Given the description of an element on the screen output the (x, y) to click on. 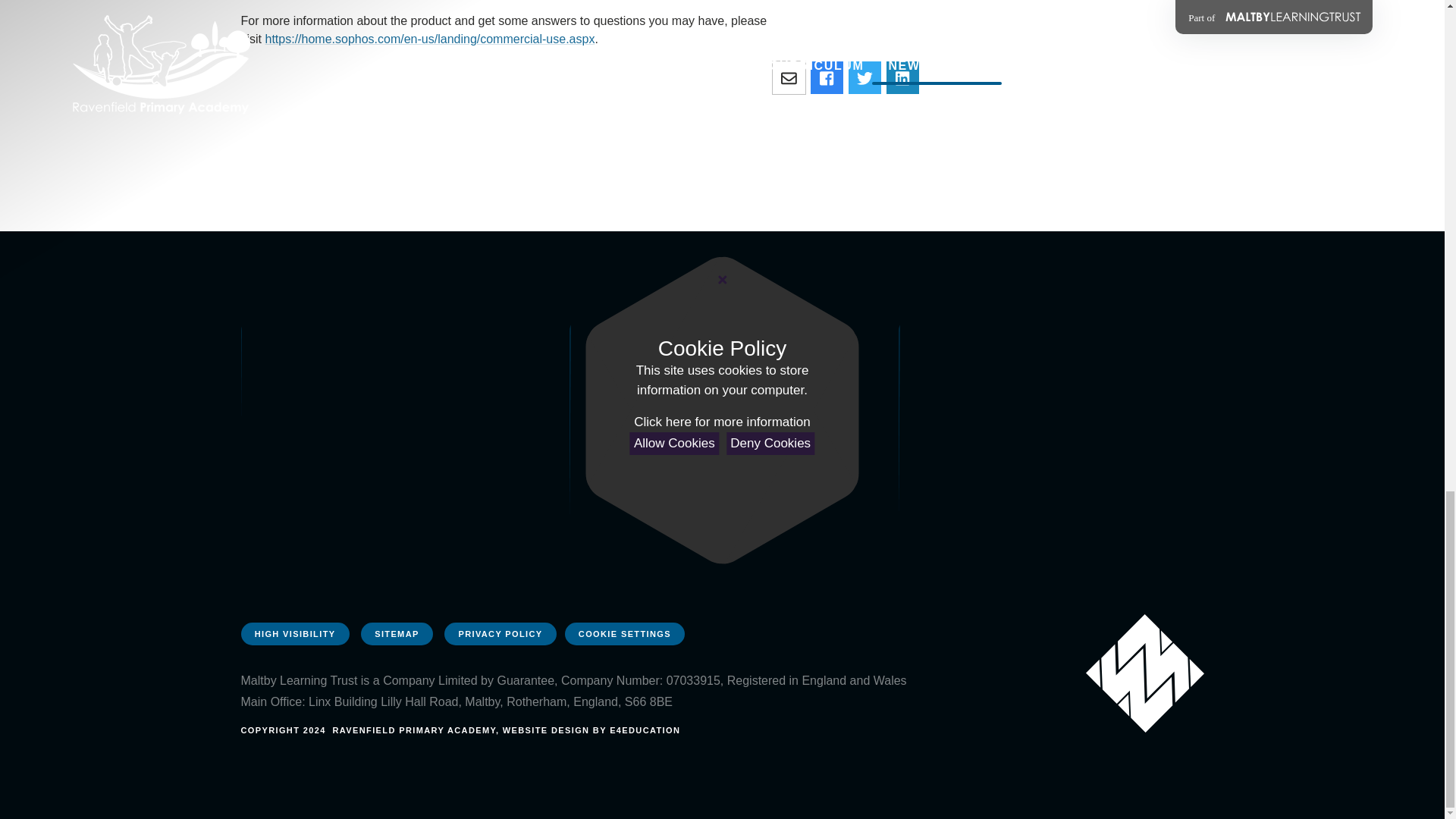
Cookie Settings (624, 633)
